Given the description of an element on the screen output the (x, y) to click on. 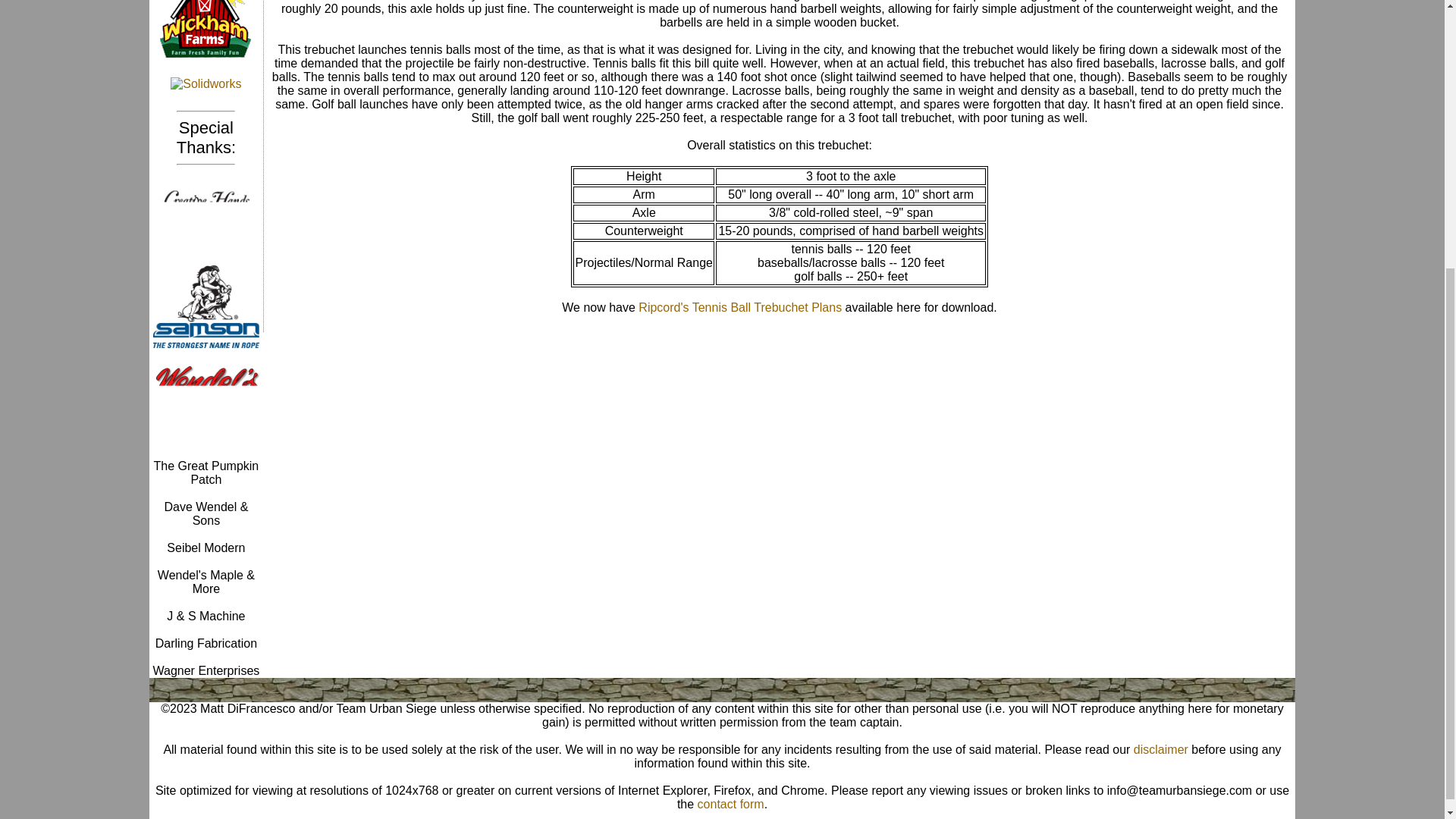
disclaimer (1161, 748)
contact form (730, 803)
Ripcord's Tennis Ball Trebuchet Plans (740, 307)
